Given the description of an element on the screen output the (x, y) to click on. 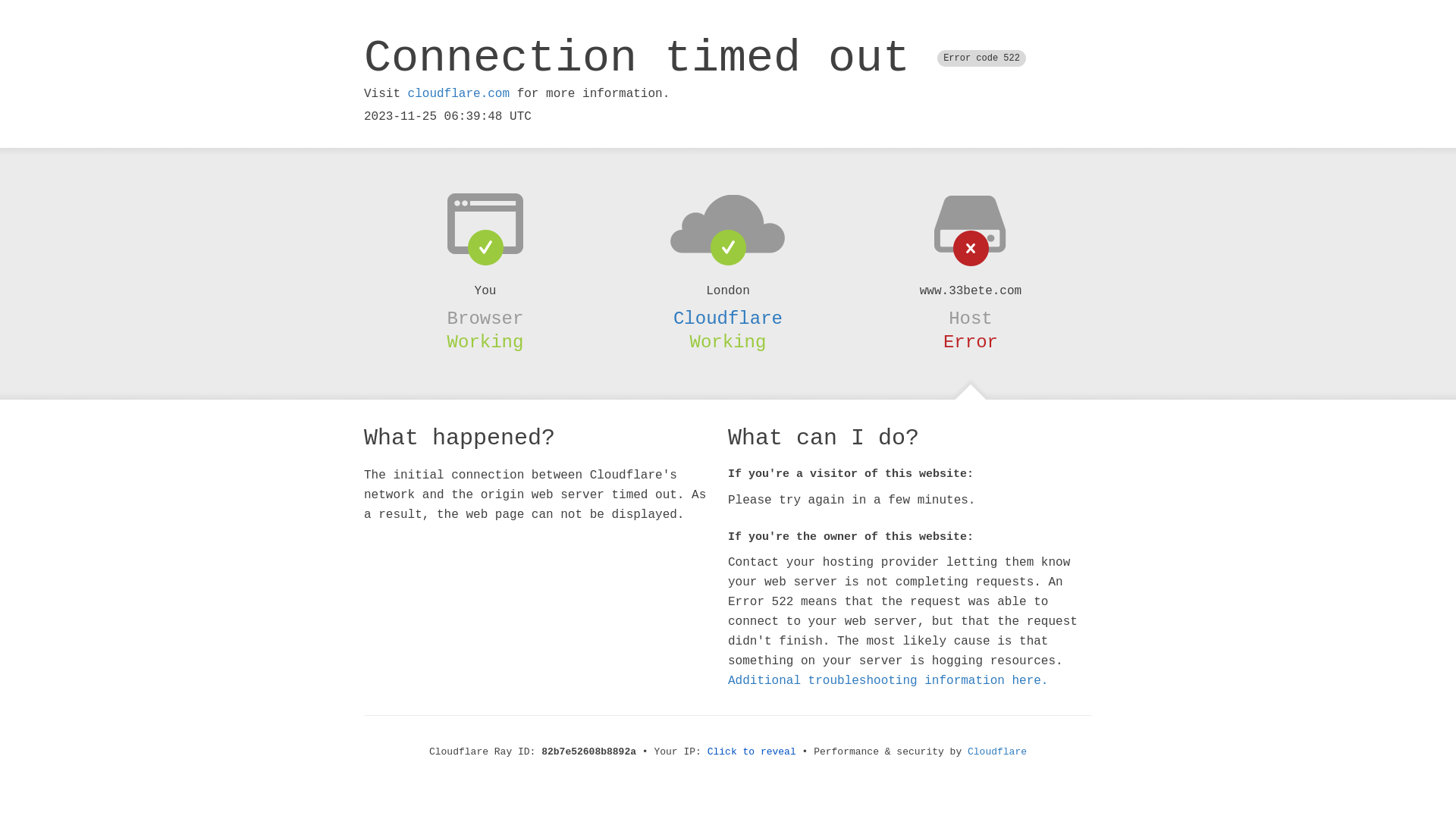
Additional troubleshooting information here. Element type: text (888, 680)
Cloudflare Element type: text (727, 318)
Click to reveal Element type: text (751, 751)
Cloudflare Element type: text (996, 751)
cloudflare.com Element type: text (458, 93)
